Given the description of an element on the screen output the (x, y) to click on. 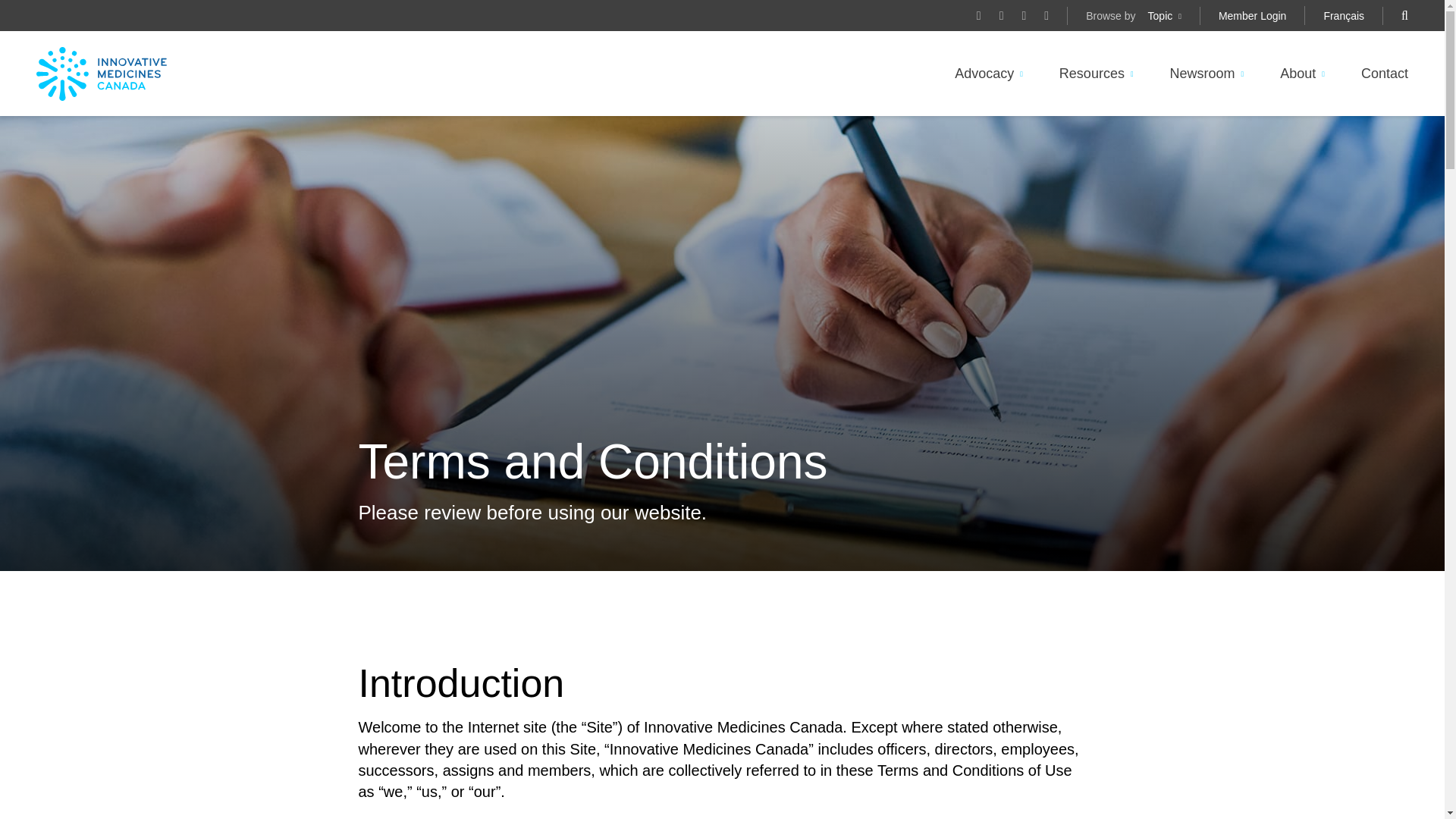
Advocacy (984, 73)
Member Login (1252, 15)
Topic (1160, 15)
Resources (1091, 73)
